Given the description of an element on the screen output the (x, y) to click on. 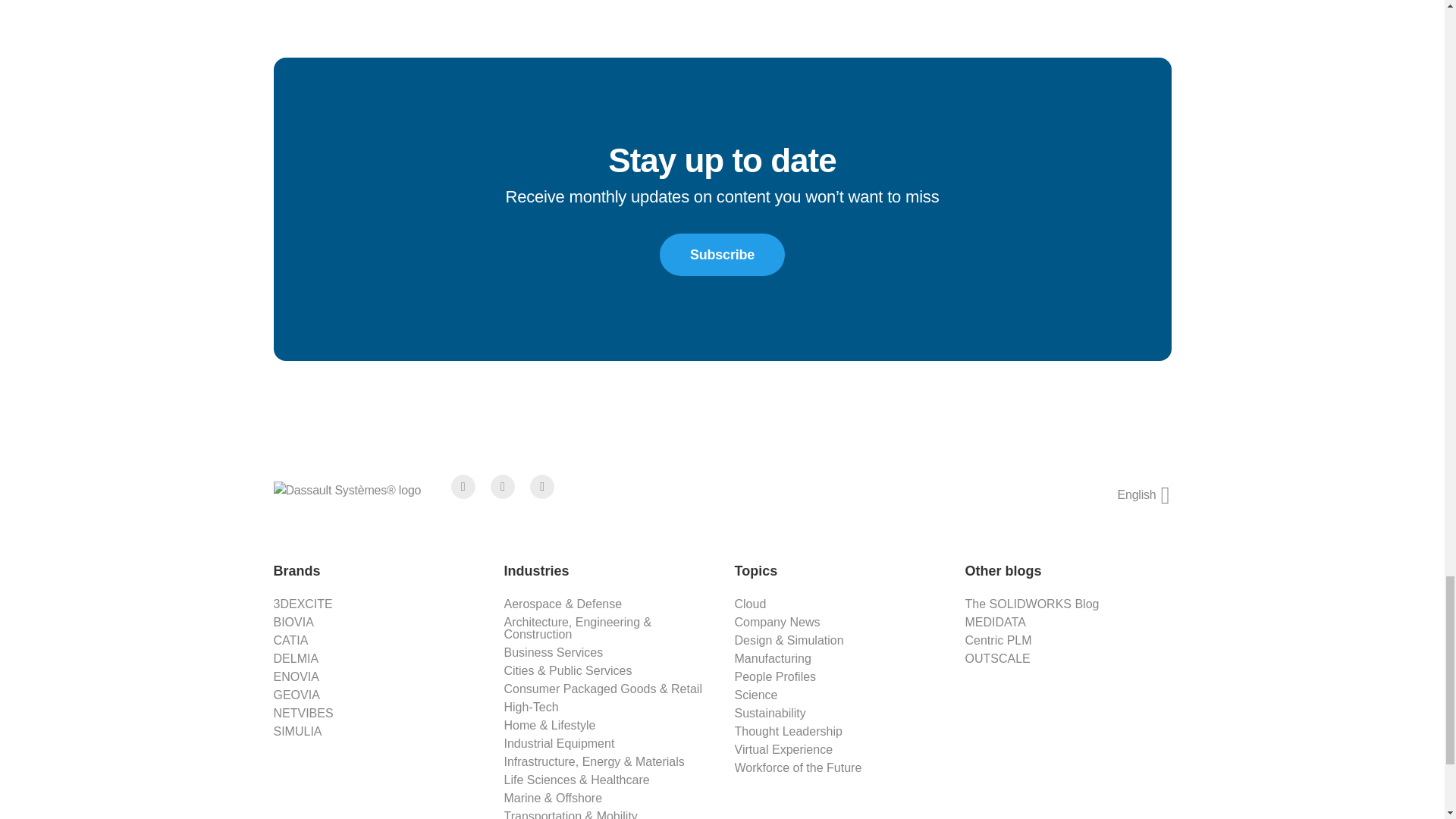
Twitter account (502, 487)
Facebook account (463, 487)
Linkedin account (541, 487)
